Given the description of an element on the screen output the (x, y) to click on. 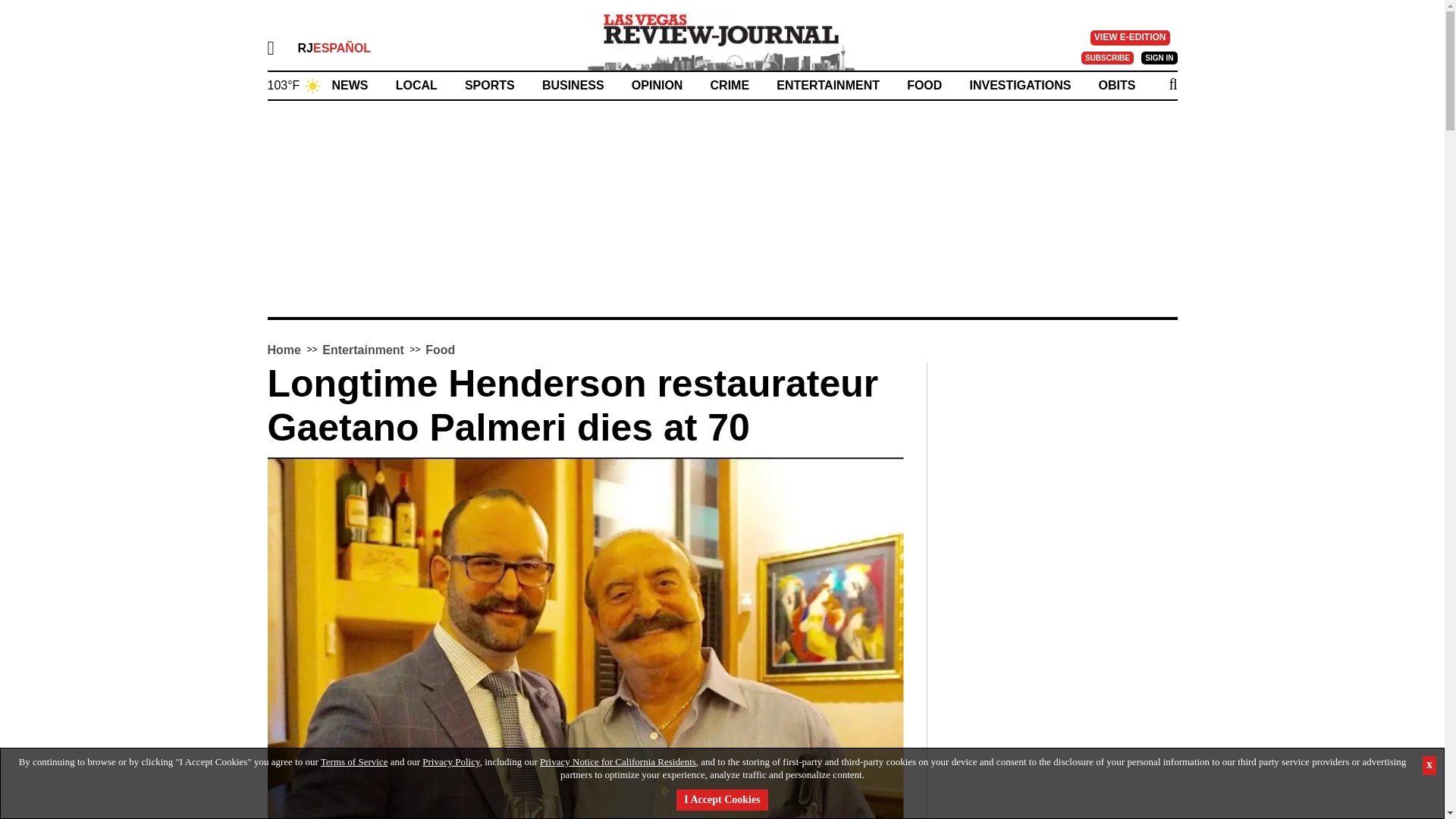
INVESTIGATIONS (1019, 84)
VIEW E-EDITION (1130, 37)
OBITS (1117, 84)
FOOD (924, 84)
ENTERTAINMENT (827, 84)
SPORTS (489, 84)
SUBSCRIBE (1107, 58)
OPINION (656, 84)
NEWS (349, 84)
SIGN IN (1158, 58)
CRIME (729, 84)
Las Vegas News (721, 39)
Weather Forecast (293, 83)
LOCAL (417, 84)
BUSINESS (572, 84)
